Given the description of an element on the screen output the (x, y) to click on. 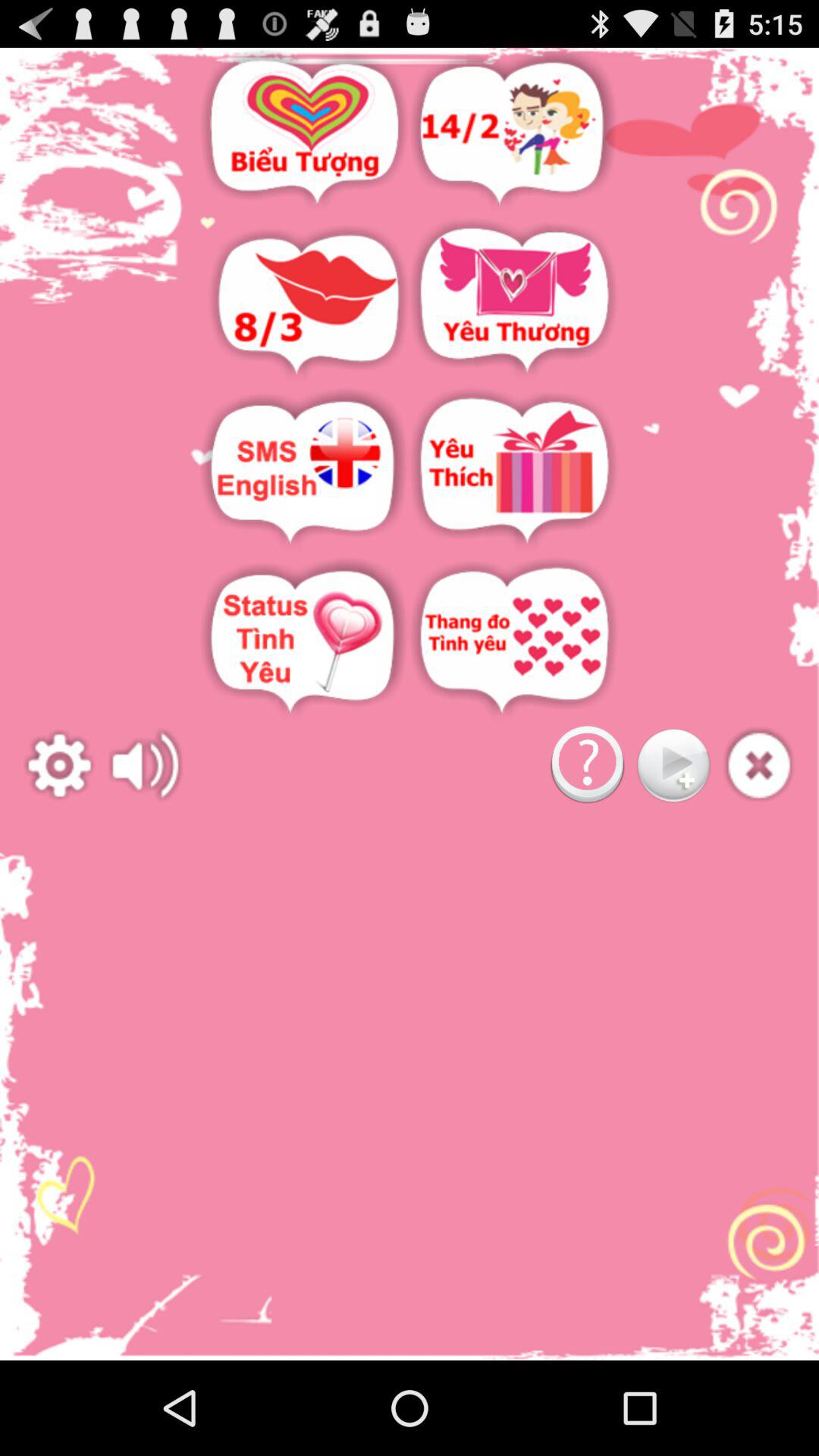
sound (145, 765)
